Given the description of an element on the screen output the (x, y) to click on. 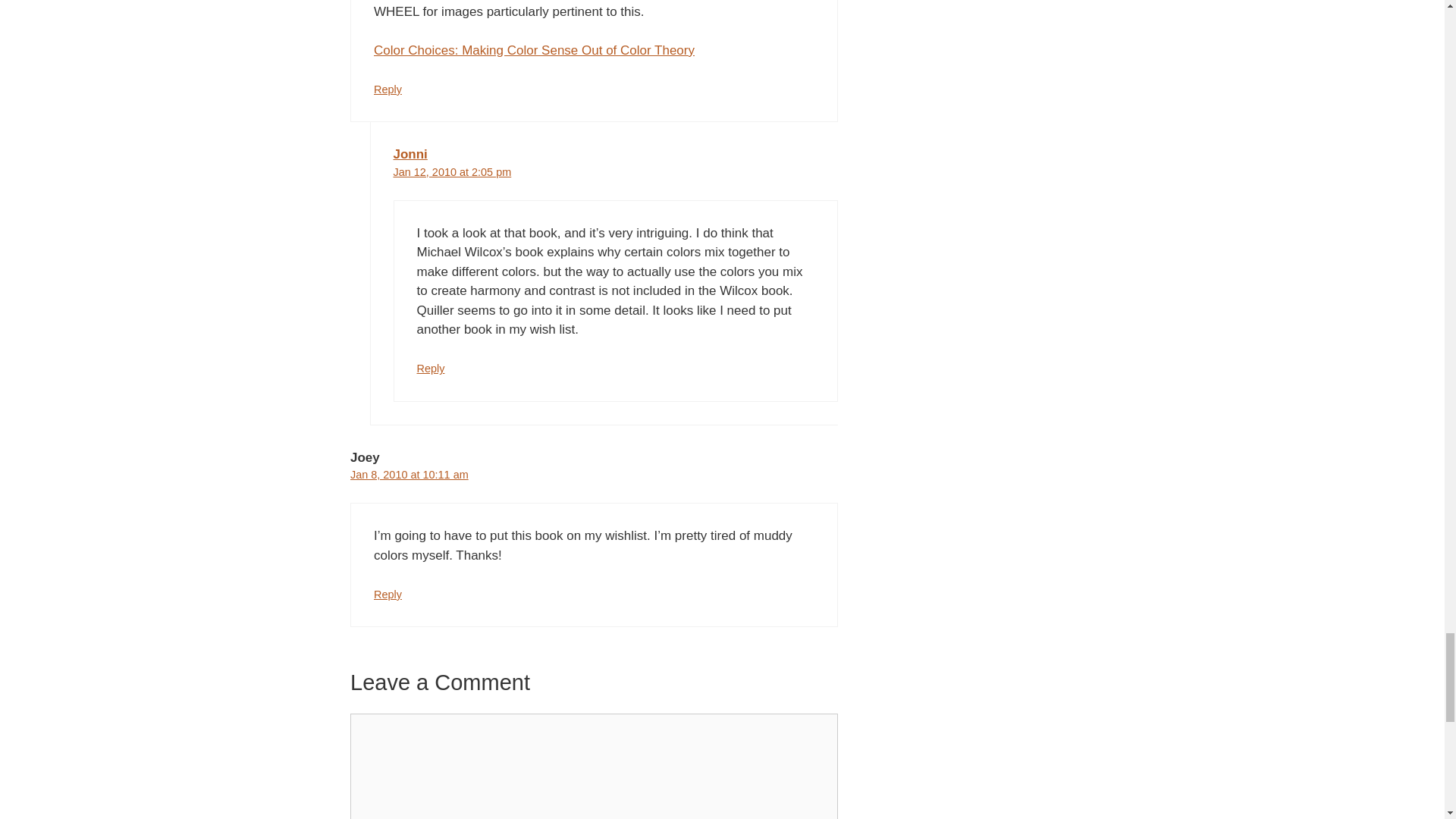
Color Choices: Making Color Sense Out of Color Theory (534, 50)
